Given the description of an element on the screen output the (x, y) to click on. 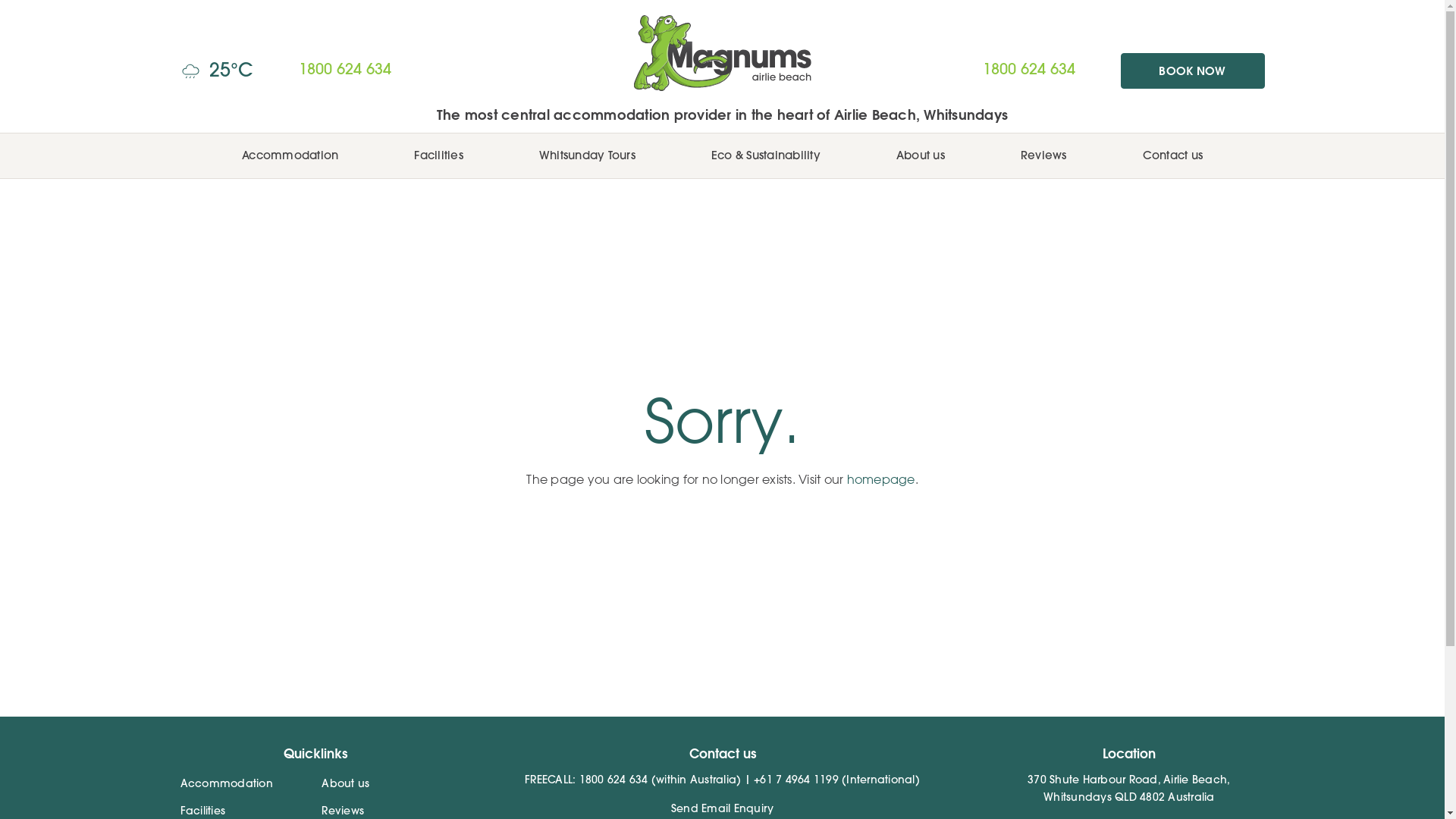
Send Email Enquiry Element type: text (722, 809)
+61 7 4964 1199 Element type: text (795, 780)
Reviews Element type: text (1043, 156)
Facilities Element type: text (438, 156)
Accommodation Element type: text (289, 156)
About us Element type: text (345, 784)
Eco & Sustainability Element type: text (765, 156)
Contact us Element type: text (1172, 156)
1800 624 634 Element type: text (617, 70)
1800 624 634 Element type: text (1028, 70)
BOOK NOW Element type: text (1192, 70)
Accommodation Element type: text (226, 784)
About us Element type: text (920, 156)
1800 624 634 Element type: text (613, 780)
Whitsunday Tours Element type: text (587, 156)
Reviews Element type: text (342, 811)
homepage Element type: text (880, 478)
Facilities Element type: text (202, 811)
